Given the description of an element on the screen output the (x, y) to click on. 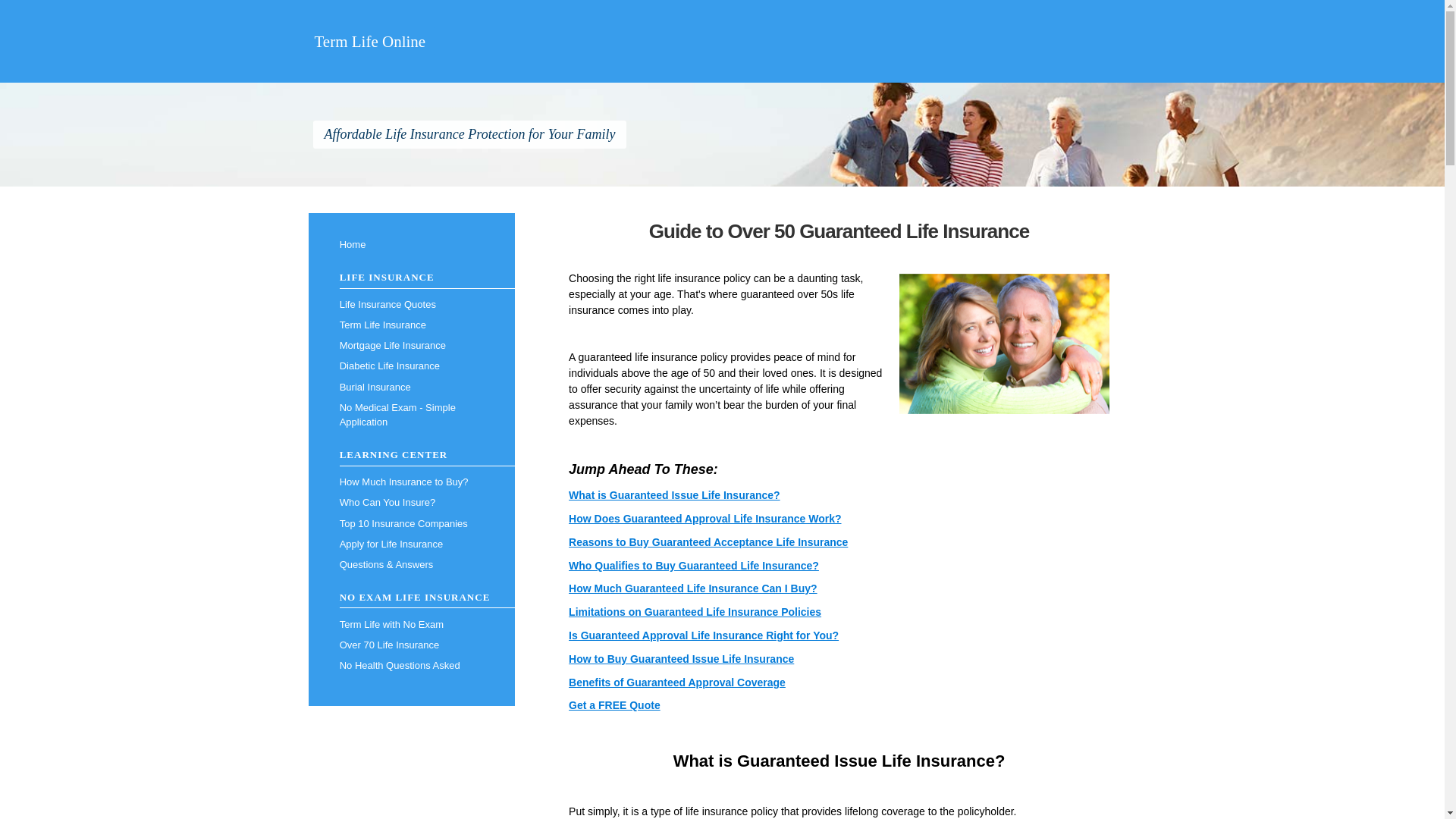
Burial Insurance (411, 386)
Mortgage Life Insurance (411, 345)
How to Buy Guaranteed Issue Life Insurance (681, 658)
Term Life Online (368, 40)
Limitations on Guaranteed Life Insurance Policies (695, 612)
Who Qualifies to Buy Guaranteed Life Insurance? (693, 565)
Is Guaranteed Approval Life Insurance Right for You? (703, 635)
No Medical Exam - Simple Application (411, 415)
Get a FREE Quote (615, 705)
Reasons to Buy Guaranteed Acceptance Life Insurance (708, 541)
Benefits of Guaranteed Approval Coverage (677, 682)
Diabetic Life Insurance (411, 366)
How Does Guaranteed Approval Life Insurance Work? (705, 518)
Life Insurance Quotes (411, 304)
